Given the description of an element on the screen output the (x, y) to click on. 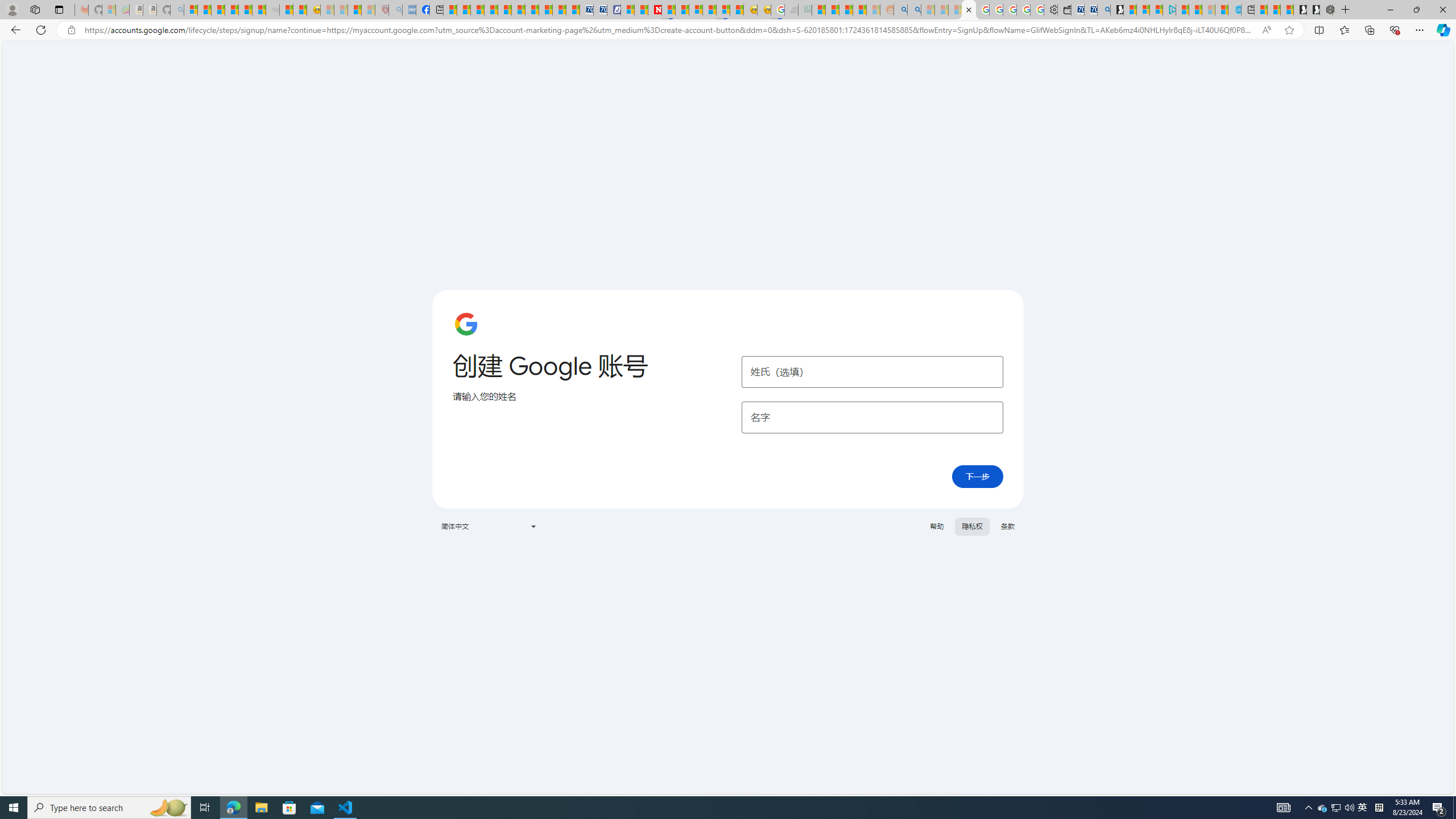
The Weather Channel - MSN (218, 9)
